Given the description of an element on the screen output the (x, y) to click on. 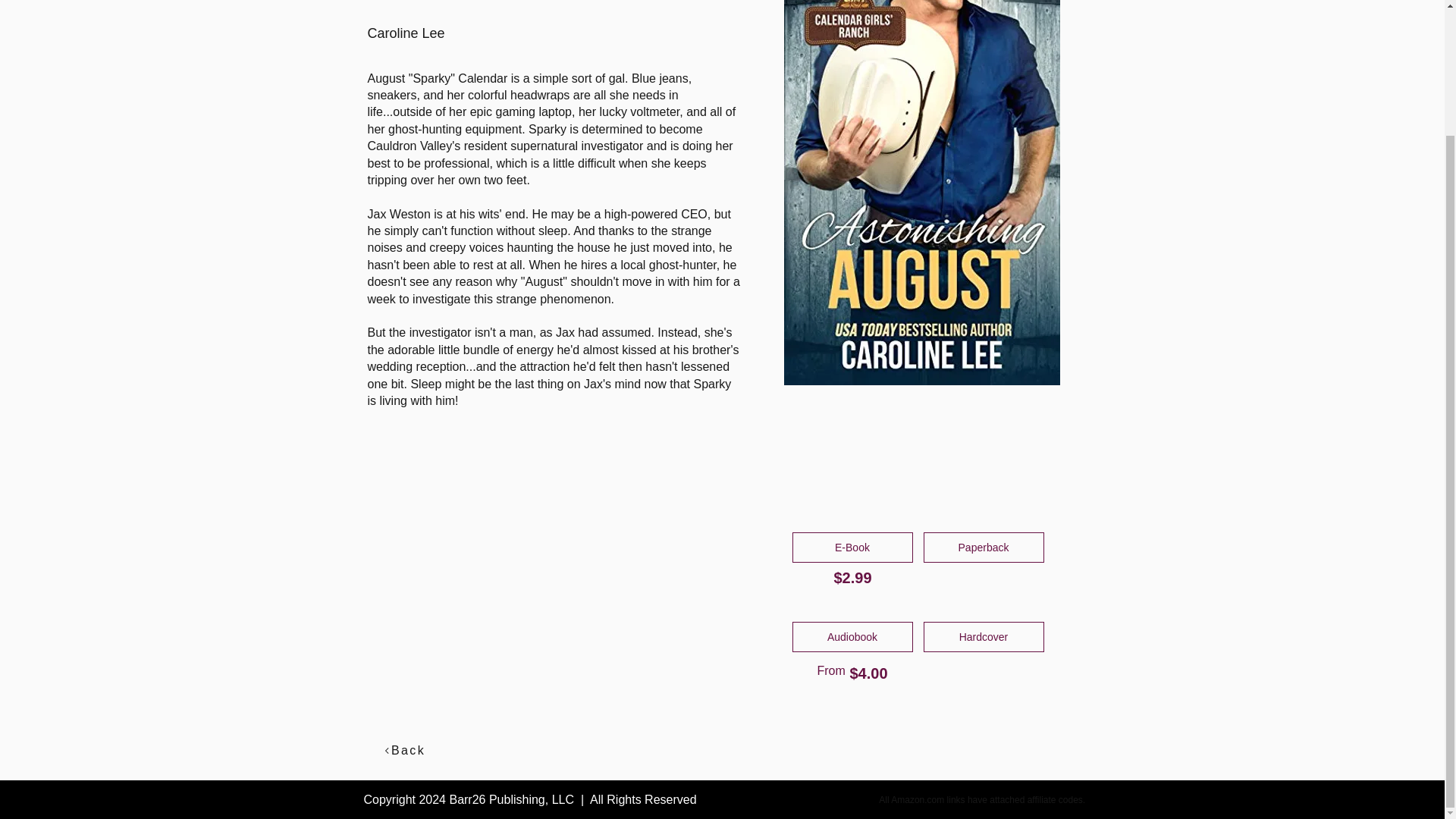
Back (404, 750)
E-Book (852, 547)
Caroline Lee (545, 33)
Audiobook (852, 636)
Astonishing August book.jpg (921, 192)
